Given the description of an element on the screen output the (x, y) to click on. 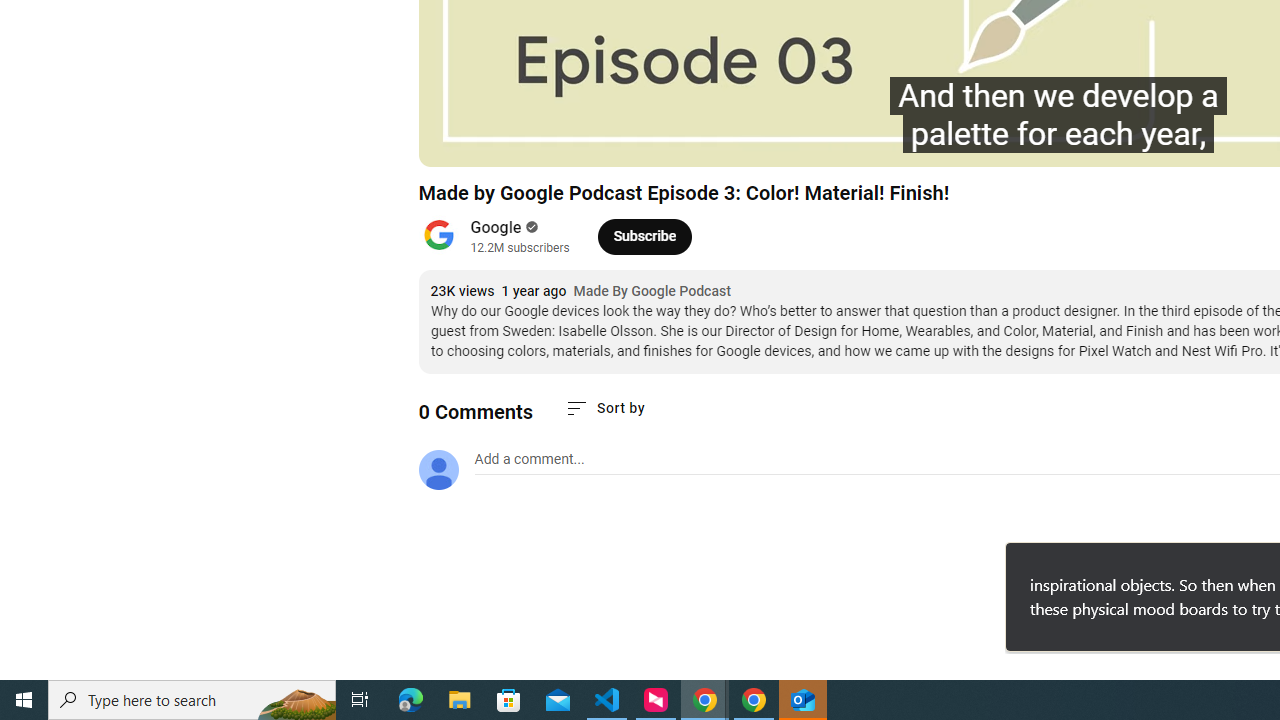
Google (496, 227)
Default profile photo (438, 470)
Next (SHIFT+n) (500, 142)
Made By Google Podcast (651, 291)
Mute (m) (548, 142)
Verified (530, 227)
Sort comments (604, 408)
AutomationID: simplebox-placeholder (528, 459)
Subscribe to Google. (644, 236)
Pause (k) (453, 142)
